Given the description of an element on the screen output the (x, y) to click on. 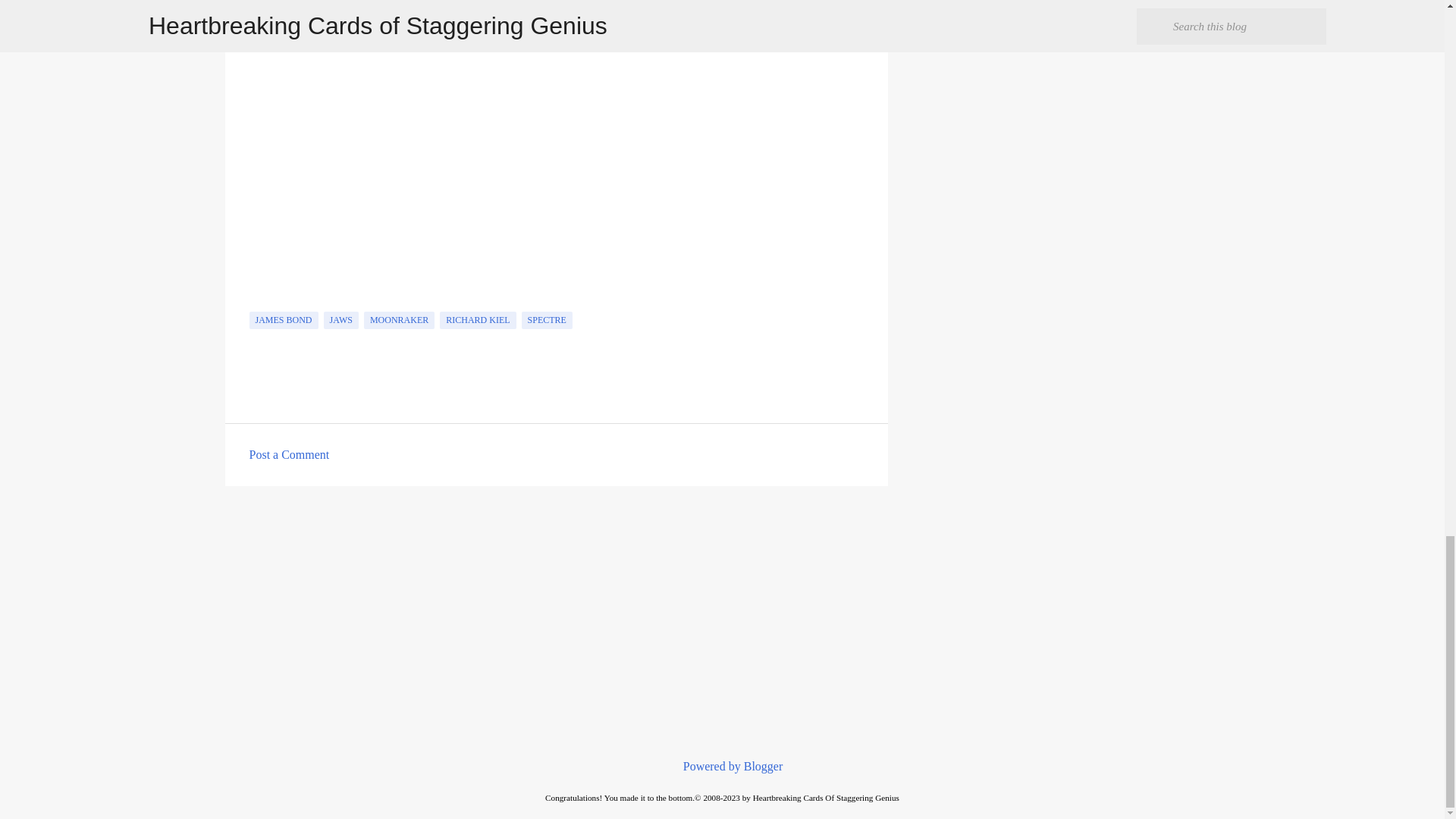
RICHARD KIEL (477, 320)
JAMES BOND (282, 320)
Email Post (257, 302)
Post a Comment (288, 454)
Powered by Blogger (722, 766)
MOONRAKER (398, 320)
JAWS (340, 320)
SPECTRE (546, 320)
